Given the description of an element on the screen output the (x, y) to click on. 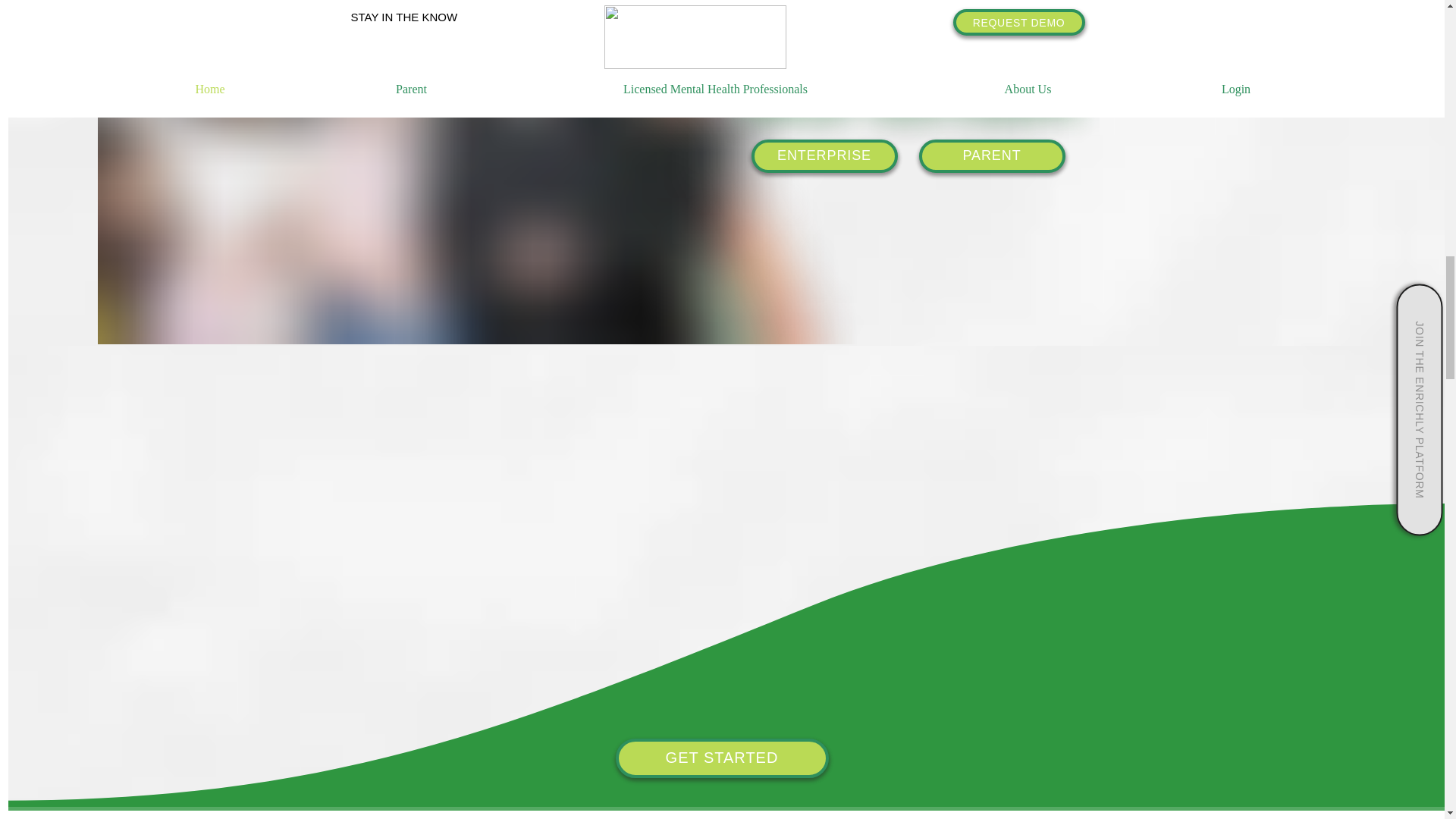
PARENT (991, 155)
GET STARTED (721, 758)
ENTERPRISE (823, 155)
